Given the description of an element on the screen output the (x, y) to click on. 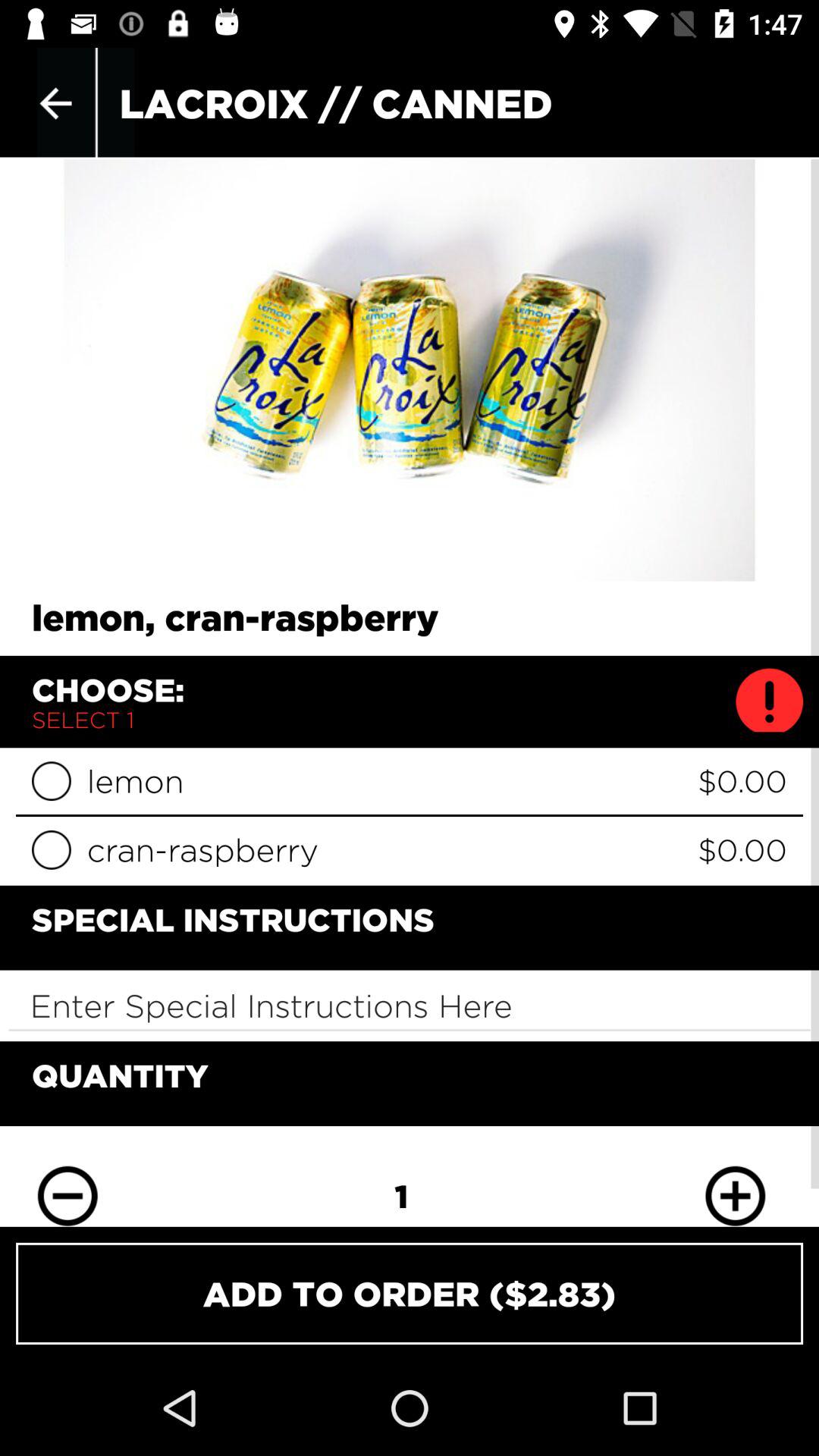
enter special instructions (409, 1005)
